Given the description of an element on the screen output the (x, y) to click on. 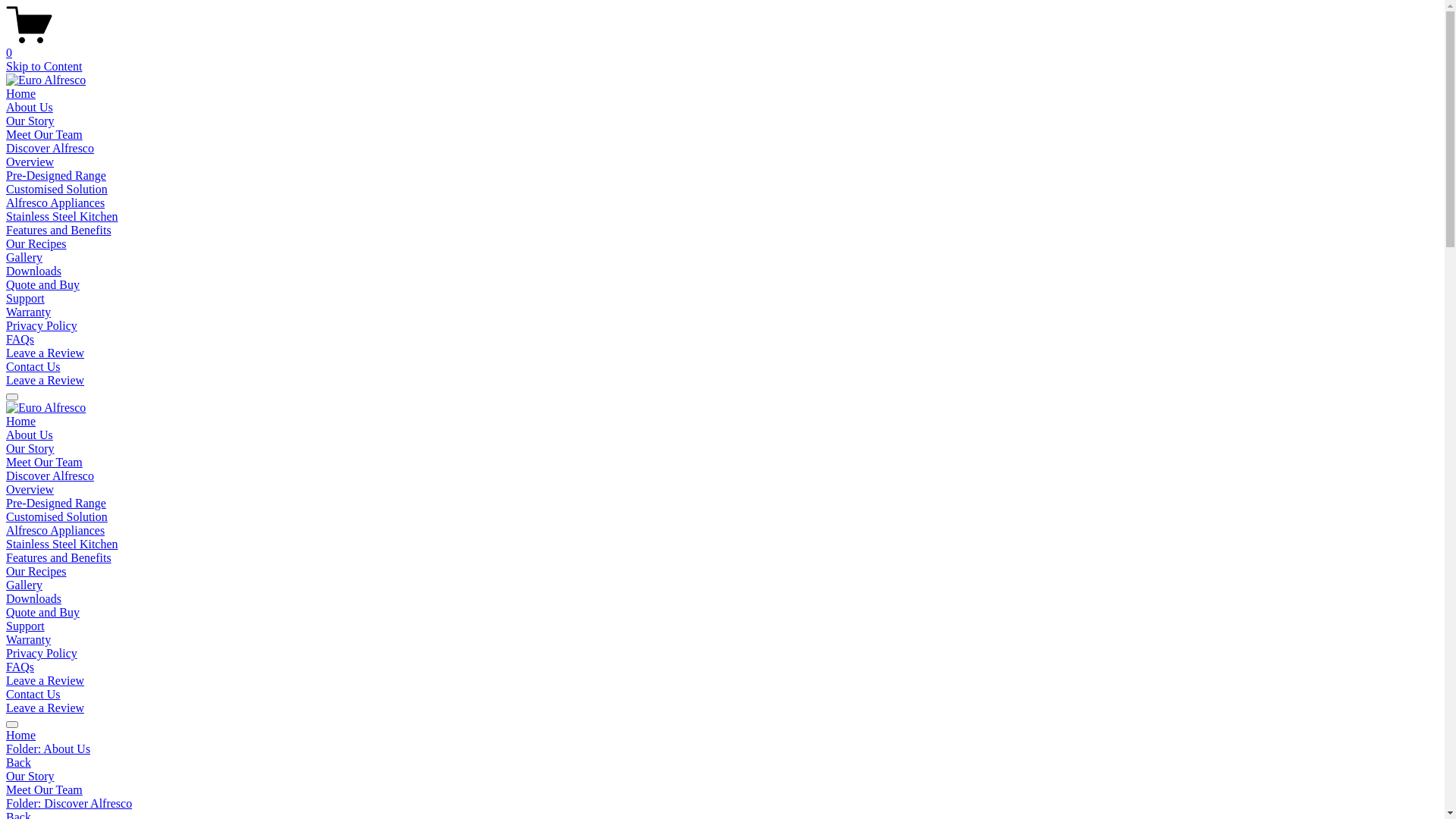
Overview Element type: text (29, 161)
Pre-Designed Range Element type: text (56, 502)
Home Element type: text (20, 420)
Meet Our Team Element type: text (44, 461)
Customised Solution Element type: text (56, 516)
Downloads Element type: text (33, 598)
Folder: About Us Element type: text (722, 749)
Downloads Element type: text (33, 270)
Our Recipes Element type: text (36, 570)
Home Element type: text (20, 93)
Privacy Policy Element type: text (41, 652)
Leave a Review Element type: text (45, 352)
Folder: Discover Alfresco Element type: text (722, 803)
About Us Element type: text (29, 106)
Discover Alfresco Element type: text (50, 147)
Pre-Designed Range Element type: text (56, 175)
Leave a Review Element type: text (45, 379)
Our Story Element type: text (722, 776)
FAQs Element type: text (20, 338)
Alfresco Appliances Element type: text (55, 202)
Support Element type: text (25, 625)
Our Story Element type: text (30, 448)
Meet Our Team Element type: text (44, 134)
Warranty Element type: text (28, 311)
About Us Element type: text (29, 434)
0 Element type: text (722, 45)
Features and Benefits Element type: text (58, 229)
Alfresco Appliances Element type: text (55, 530)
Support Element type: text (25, 297)
Our Recipes Element type: text (36, 243)
Back Element type: text (18, 762)
Overview Element type: text (29, 489)
Gallery Element type: text (24, 257)
Leave a Review Element type: text (45, 707)
Contact Us Element type: text (33, 366)
Features and Benefits Element type: text (58, 557)
Meet Our Team Element type: text (722, 790)
Home Element type: text (722, 735)
Discover Alfresco Element type: text (50, 475)
Warranty Element type: text (28, 639)
Quote and Buy Element type: text (42, 611)
Leave a Review Element type: text (45, 680)
Stainless Steel Kitchen Element type: text (62, 543)
Our Story Element type: text (30, 120)
Stainless Steel Kitchen Element type: text (62, 216)
Contact Us Element type: text (33, 693)
Quote and Buy Element type: text (42, 284)
FAQs Element type: text (20, 666)
Gallery Element type: text (24, 584)
Privacy Policy Element type: text (41, 325)
Skip to Content Element type: text (43, 65)
Customised Solution Element type: text (56, 188)
